Given the description of an element on the screen output the (x, y) to click on. 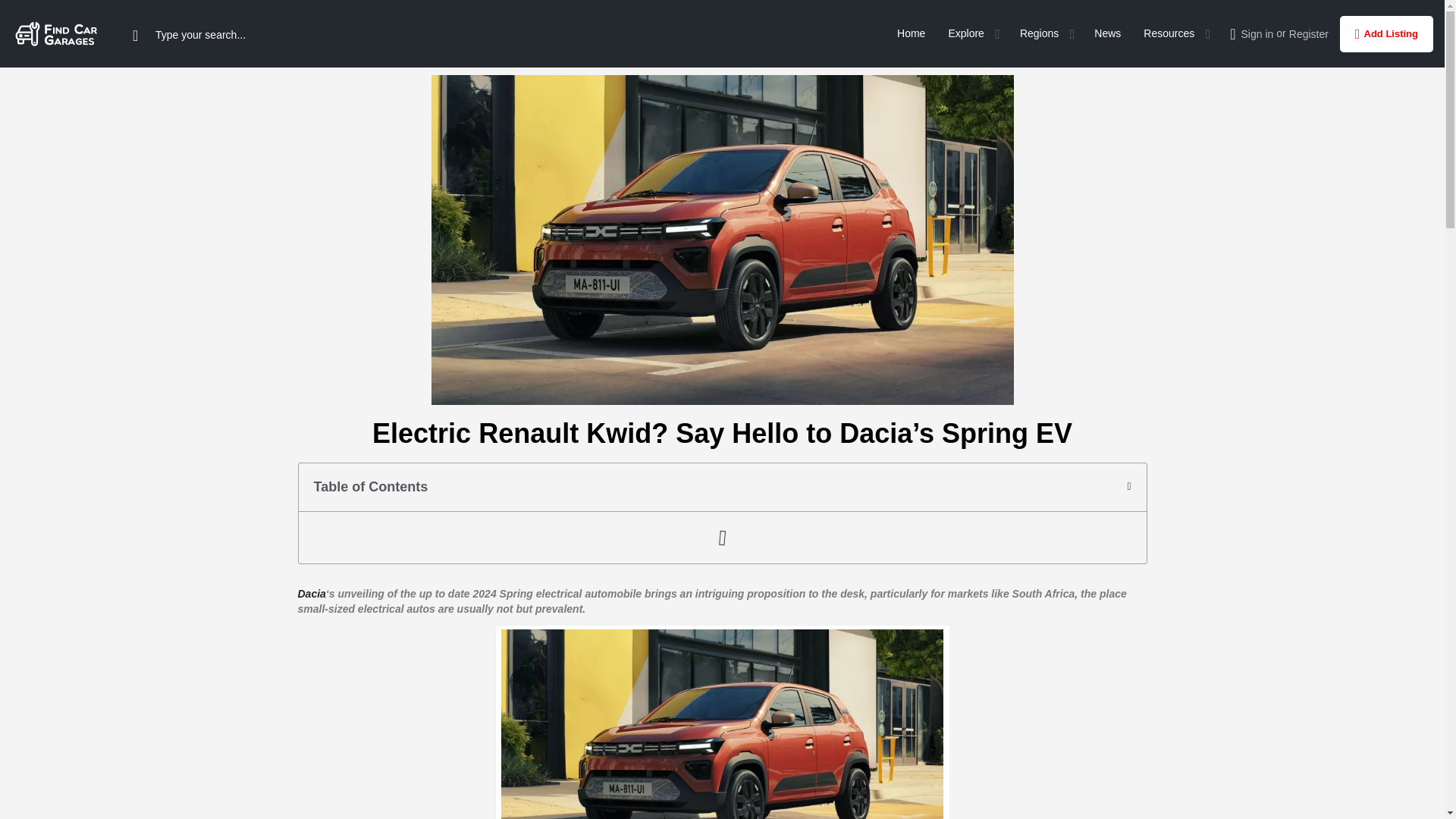
Add Listing (1385, 33)
Explore (965, 32)
News (1107, 32)
Dacia (310, 593)
Regions (1039, 32)
Sign in (1257, 33)
Home (910, 32)
Register (1307, 33)
Resources (1167, 32)
